Given the description of an element on the screen output the (x, y) to click on. 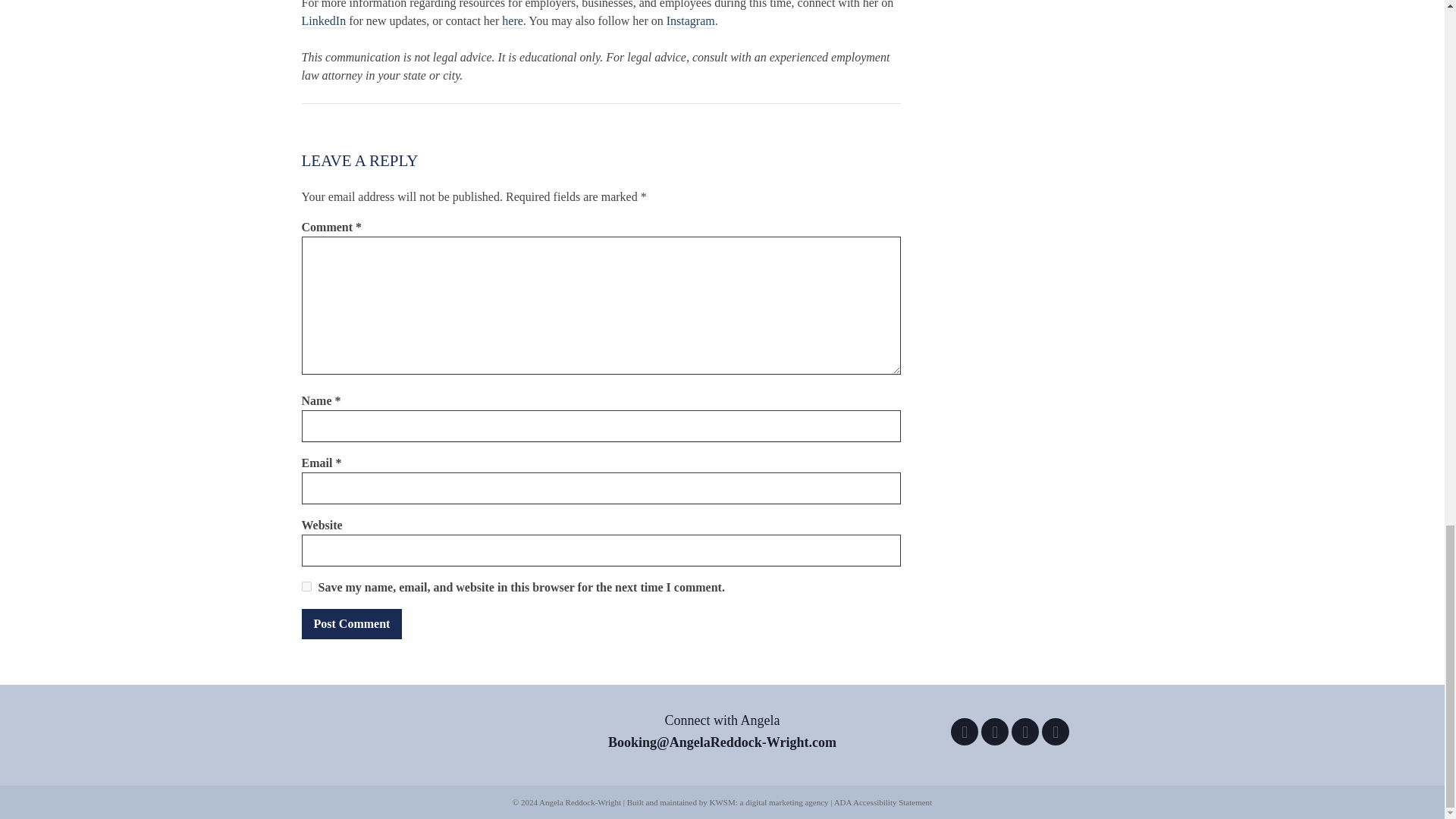
yes (306, 586)
here. (512, 21)
LinkedIn (323, 21)
Instagram (690, 21)
Post Comment (352, 624)
